Given the description of an element on the screen output the (x, y) to click on. 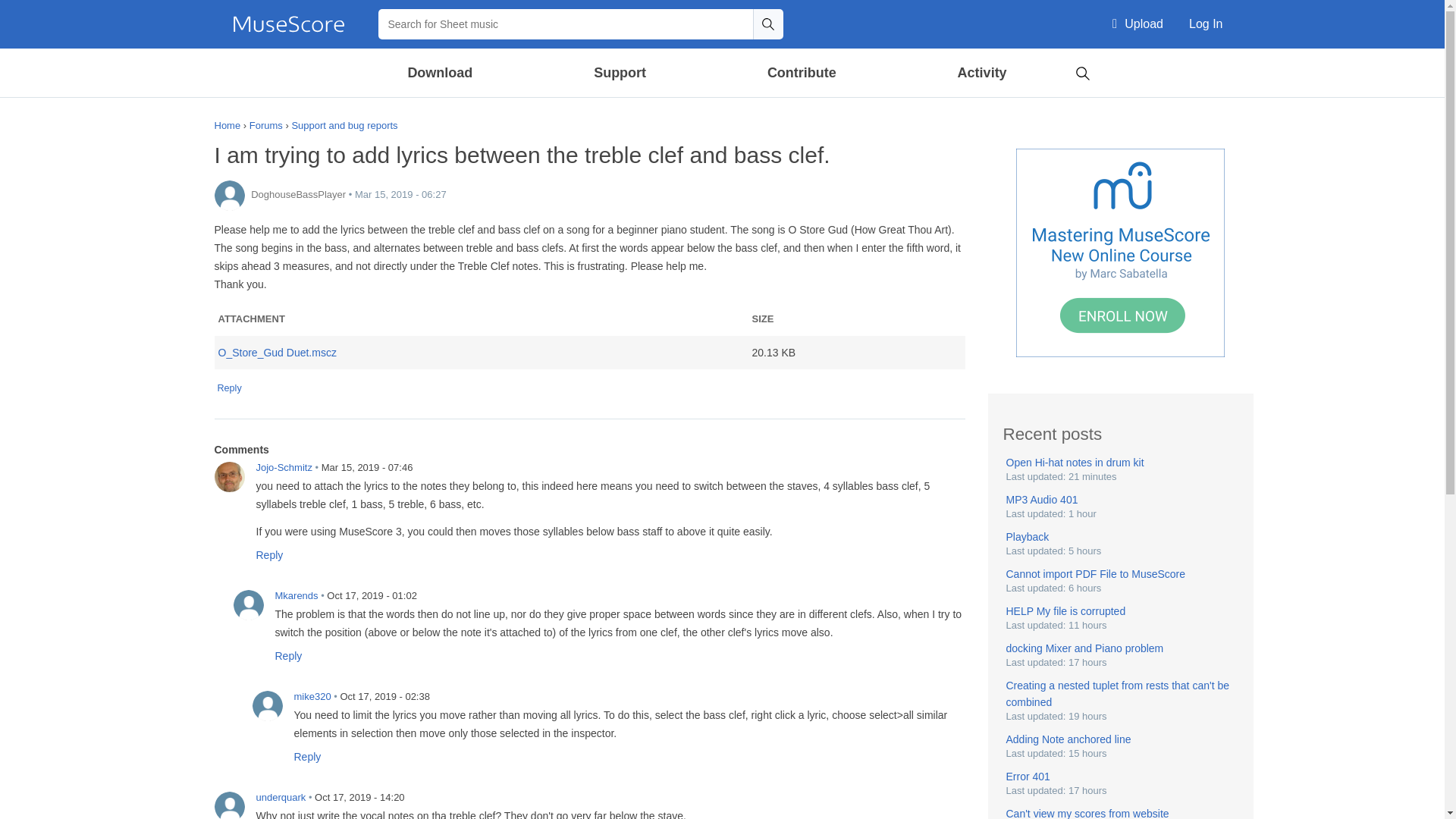
DoghouseBassPlayer (229, 195)
Search (767, 24)
Search (767, 24)
Activity (981, 72)
Log In (1205, 24)
Mkarends (247, 604)
Upload (1137, 24)
Home (287, 23)
Download (440, 72)
Jojo-Schmitz (229, 476)
mike320 (266, 706)
underquark (229, 805)
MuseScore (287, 23)
Search (1082, 71)
